Given the description of an element on the screen output the (x, y) to click on. 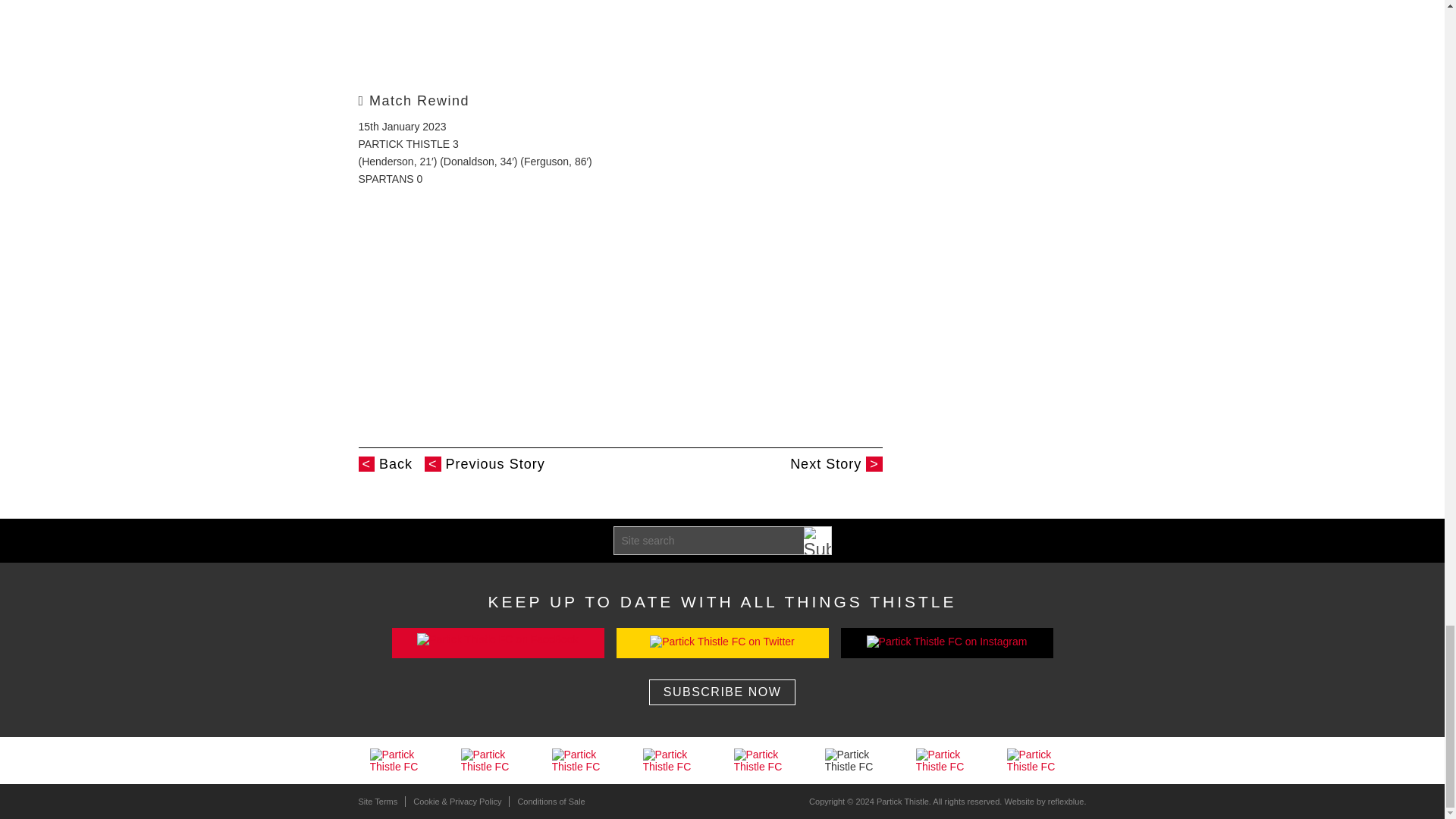
YouTube video player (570, 38)
YouTube video player (570, 307)
